Given the description of an element on the screen output the (x, y) to click on. 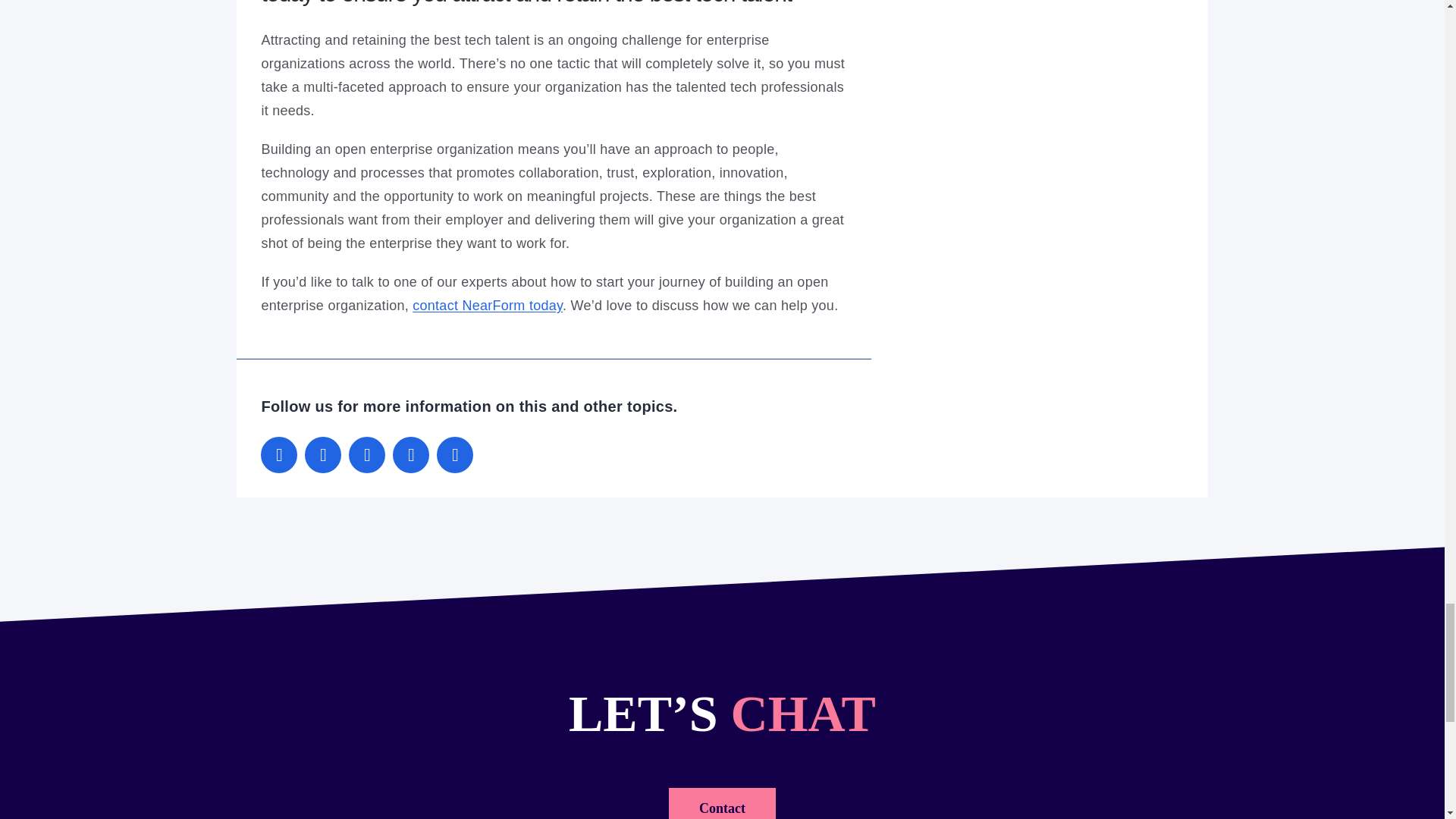
contact NearForm today (487, 305)
Facebook (367, 454)
Instagram (454, 454)
Twitter (322, 454)
YouTube (411, 454)
LinkedIn (278, 454)
